Given the description of an element on the screen output the (x, y) to click on. 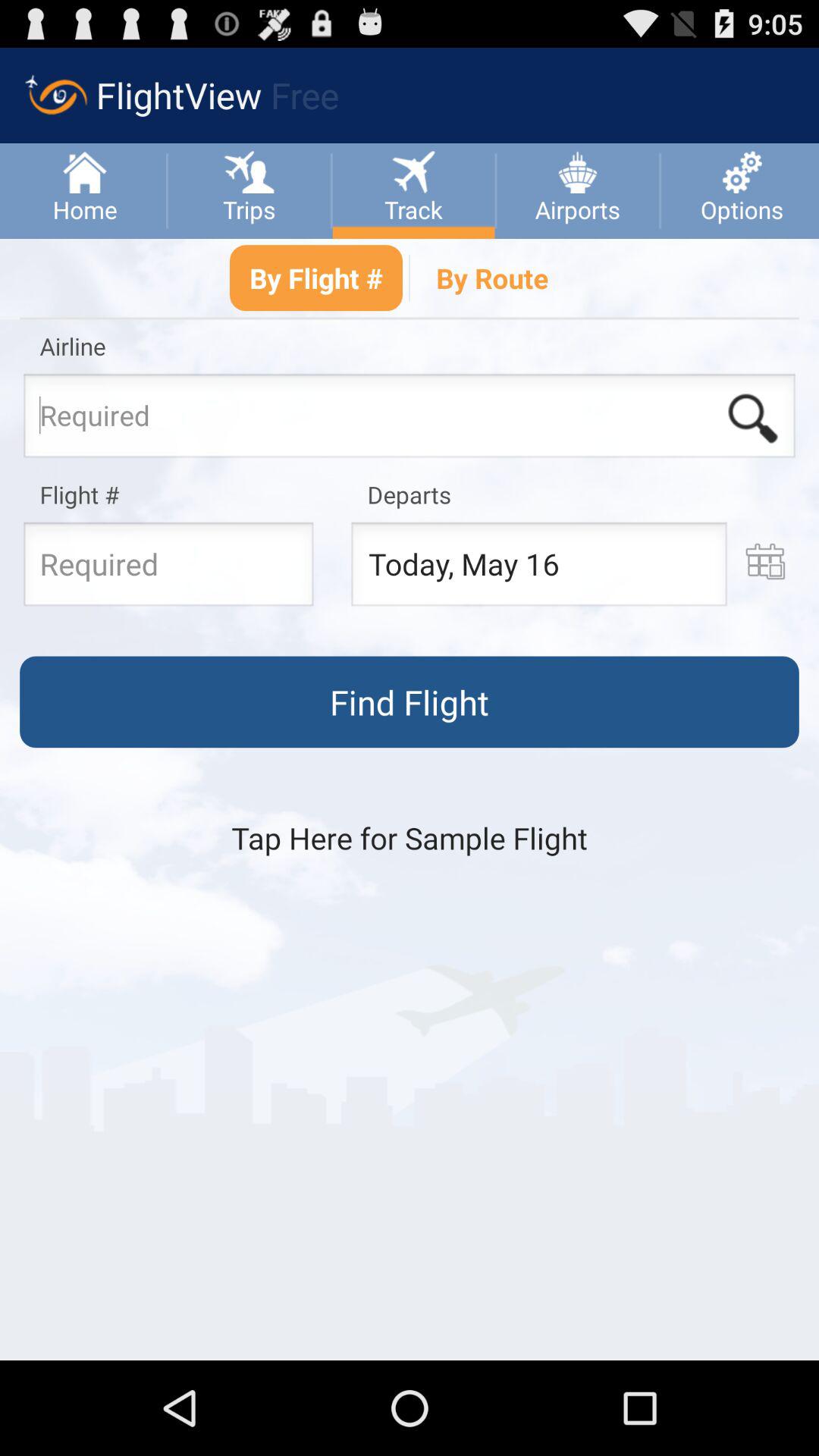
input an airline name (409, 420)
